Given the description of an element on the screen output the (x, y) to click on. 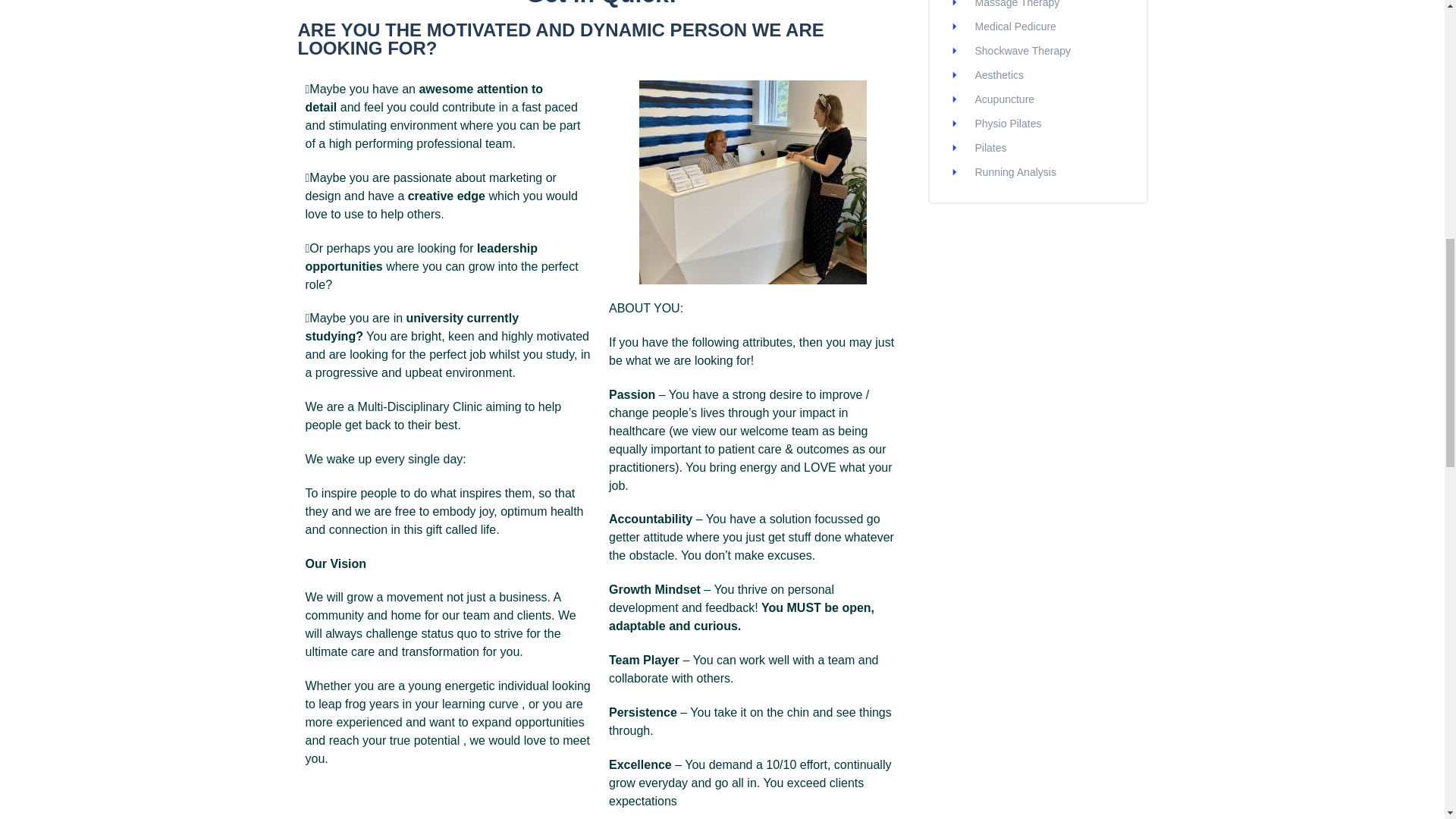
Acupuncture (1005, 99)
Physio Pilates (1008, 123)
Massage Therapy (1017, 4)
Pilates (991, 147)
Shockwave Therapy (1023, 50)
Aesthetics (1000, 74)
Medical Pedicure (1016, 26)
Running Analysis (1016, 172)
